Given the description of an element on the screen output the (x, y) to click on. 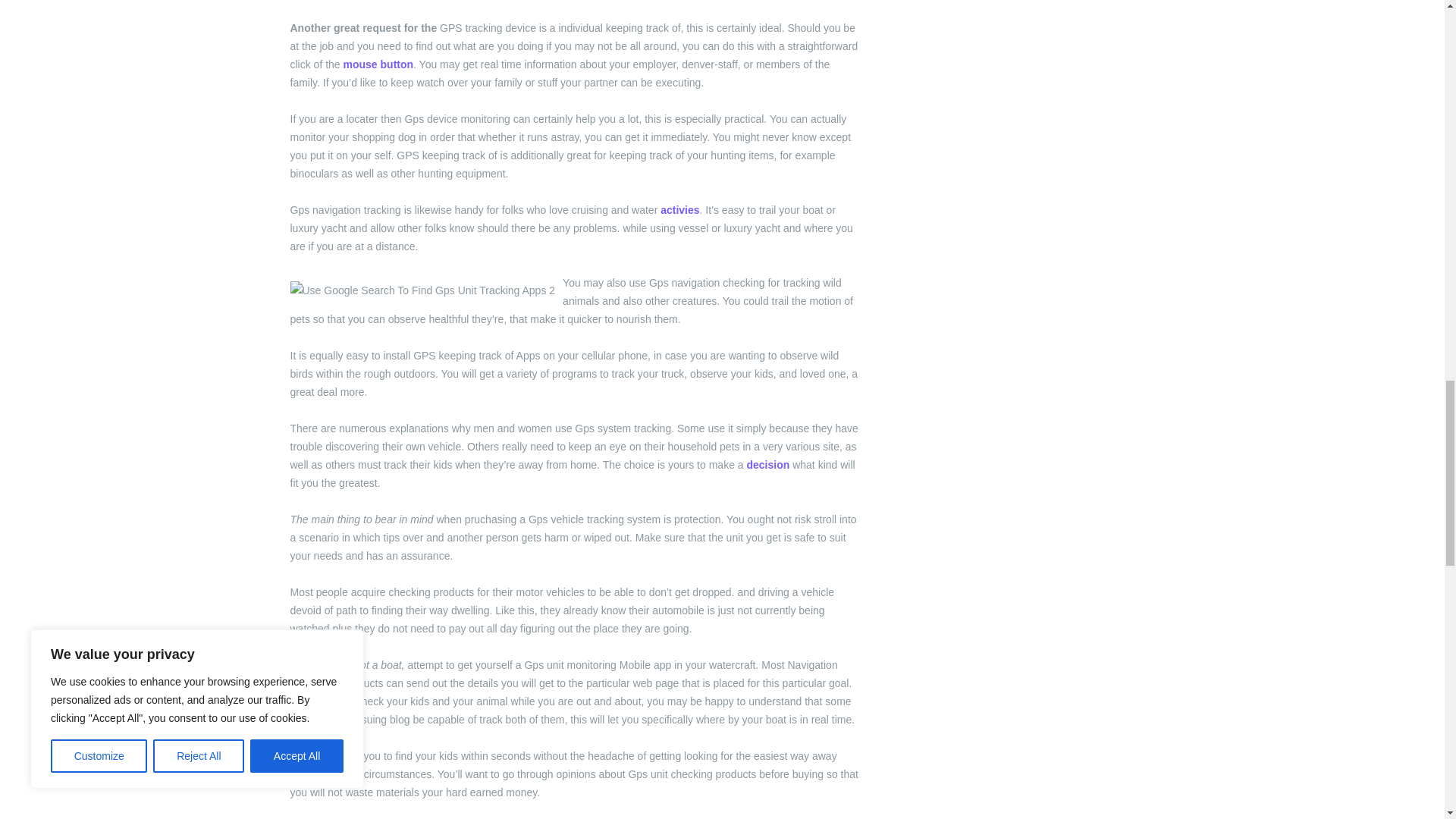
activies (679, 209)
mouse button (378, 64)
decision (767, 464)
